Given the description of an element on the screen output the (x, y) to click on. 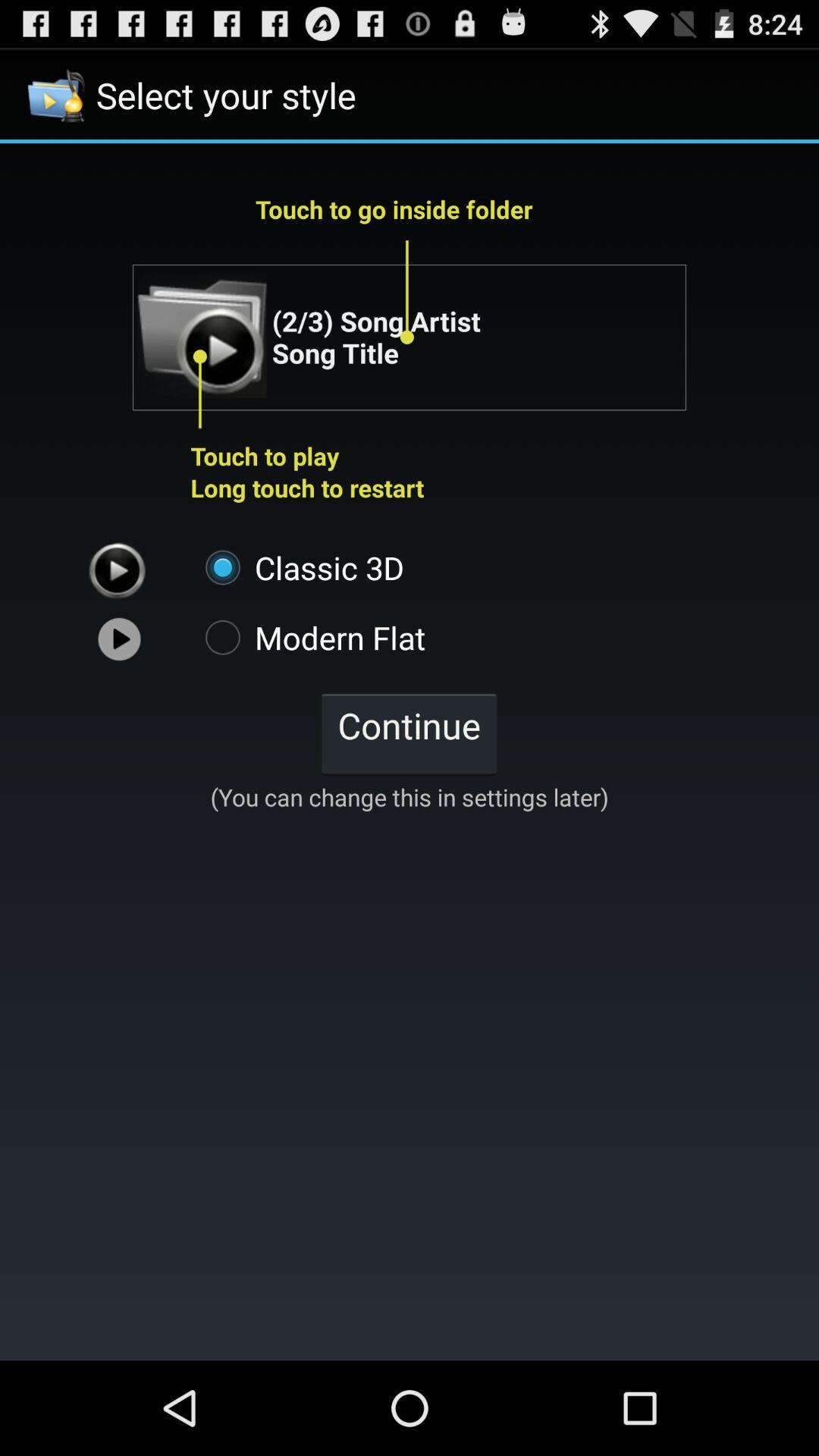
turn off icon below classic 3d (308, 637)
